Given the description of an element on the screen output the (x, y) to click on. 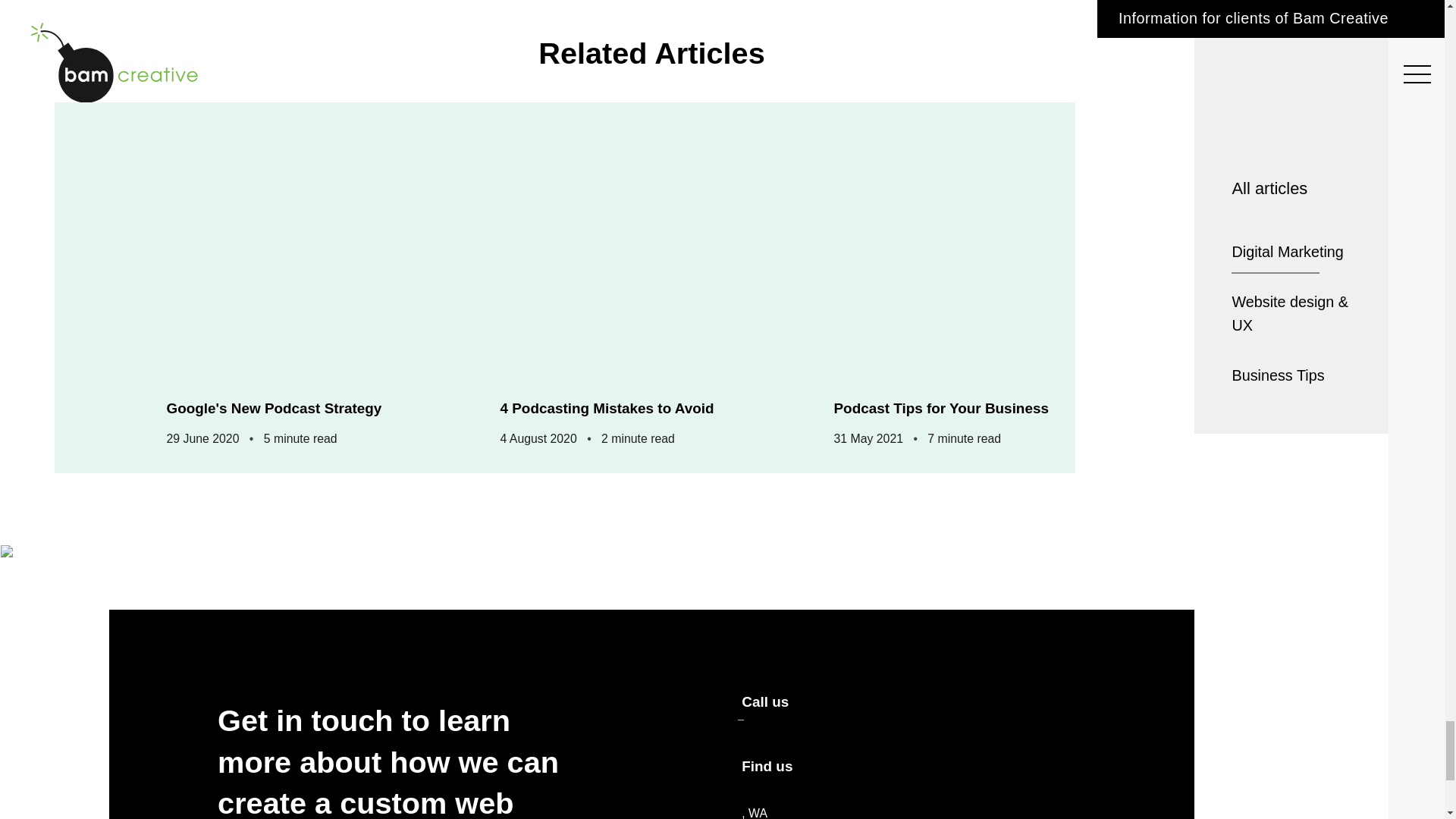
Read more: How to Plan and Start a Podcast (651, 247)
Get directions (754, 811)
Read more: How to Plan and Start a Podcast (318, 247)
Read more: How to Plan and Start a Podcast (985, 247)
